Given the description of an element on the screen output the (x, y) to click on. 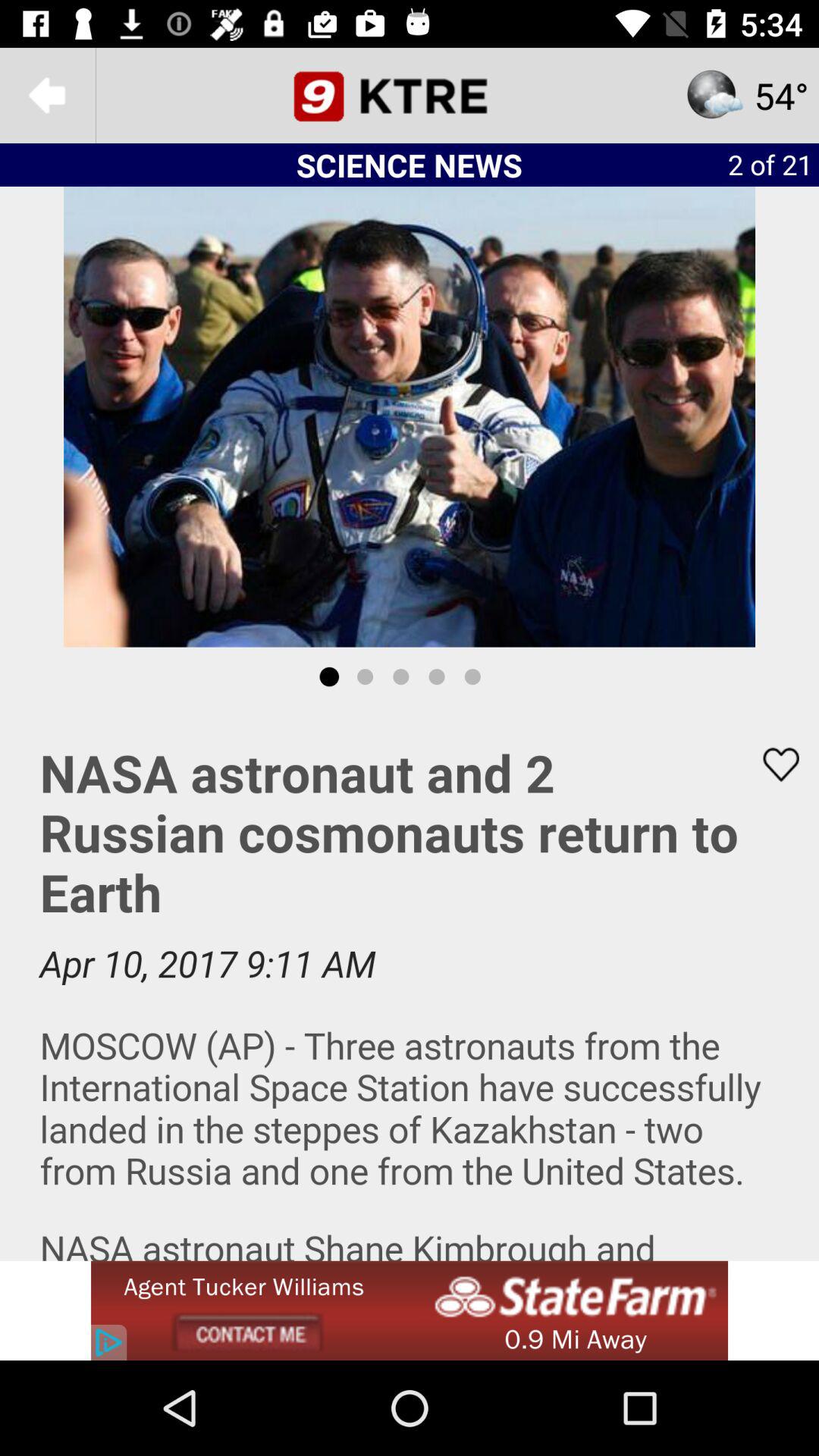
go to previous (47, 95)
